Given the description of an element on the screen output the (x, y) to click on. 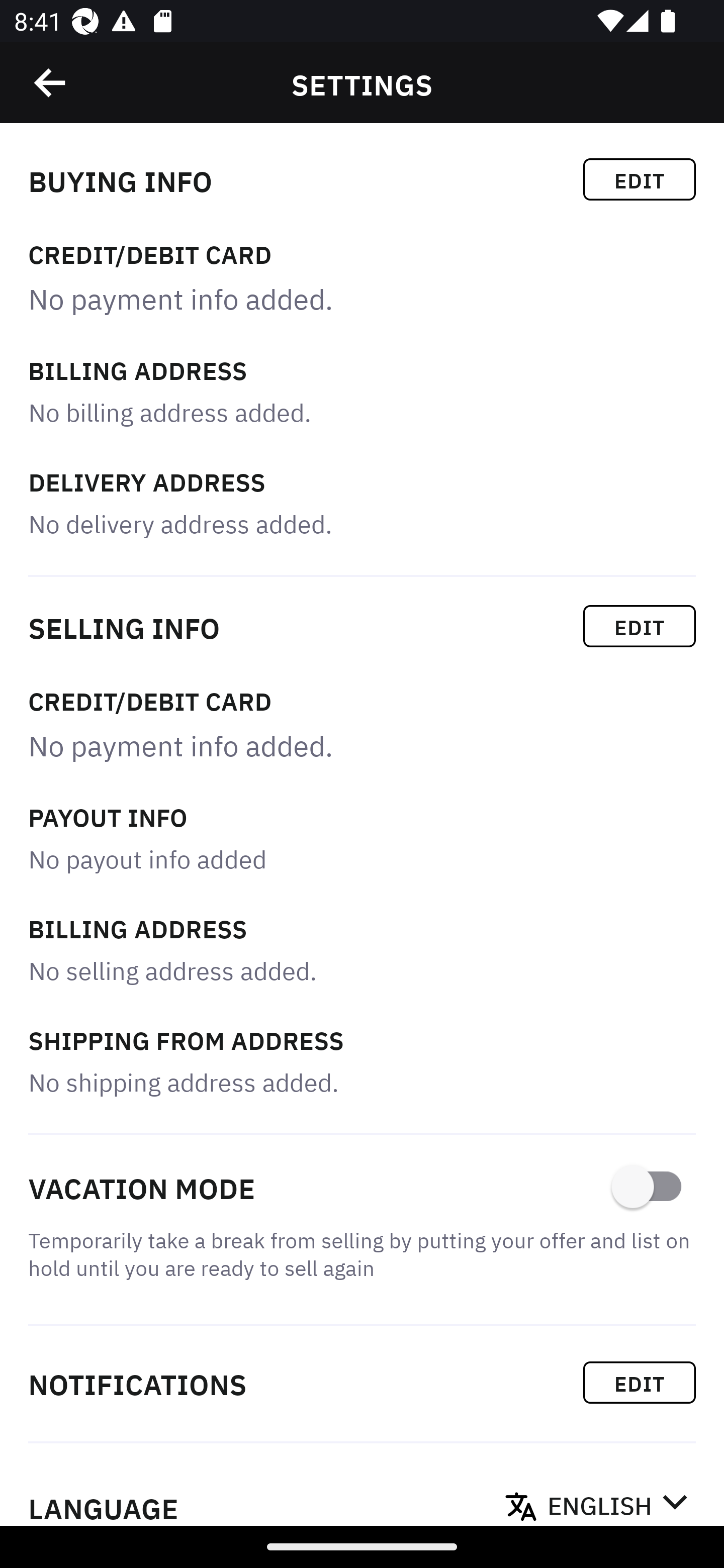
 (50, 83)
EDIT (639, 179)
EDIT (639, 626)
EDIT (639, 1382)
ENGLISH  (617, 1499)
